Given the description of an element on the screen output the (x, y) to click on. 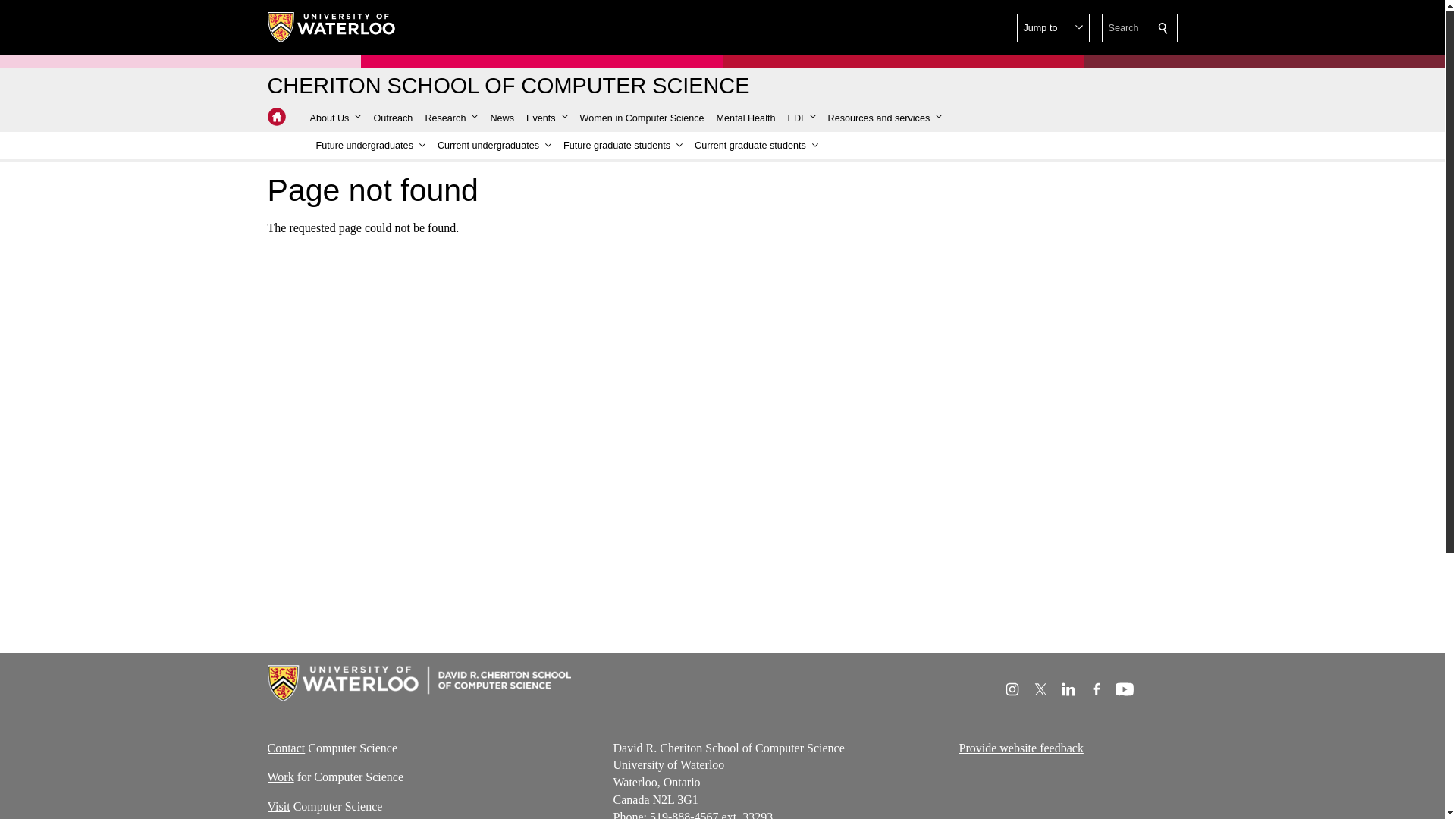
Cheriton School of Computer Science Home (275, 116)
Outreach (392, 117)
University of Waterloo Home (331, 27)
CHERITON SCHOOL OF COMPUTER SCIENCE (507, 85)
Cheriton School of Computer Science Home (507, 85)
Events (546, 117)
Search (1163, 27)
Cheriton School of Computer Science Home (275, 116)
Women in Computer Science (641, 117)
